Given the description of an element on the screen output the (x, y) to click on. 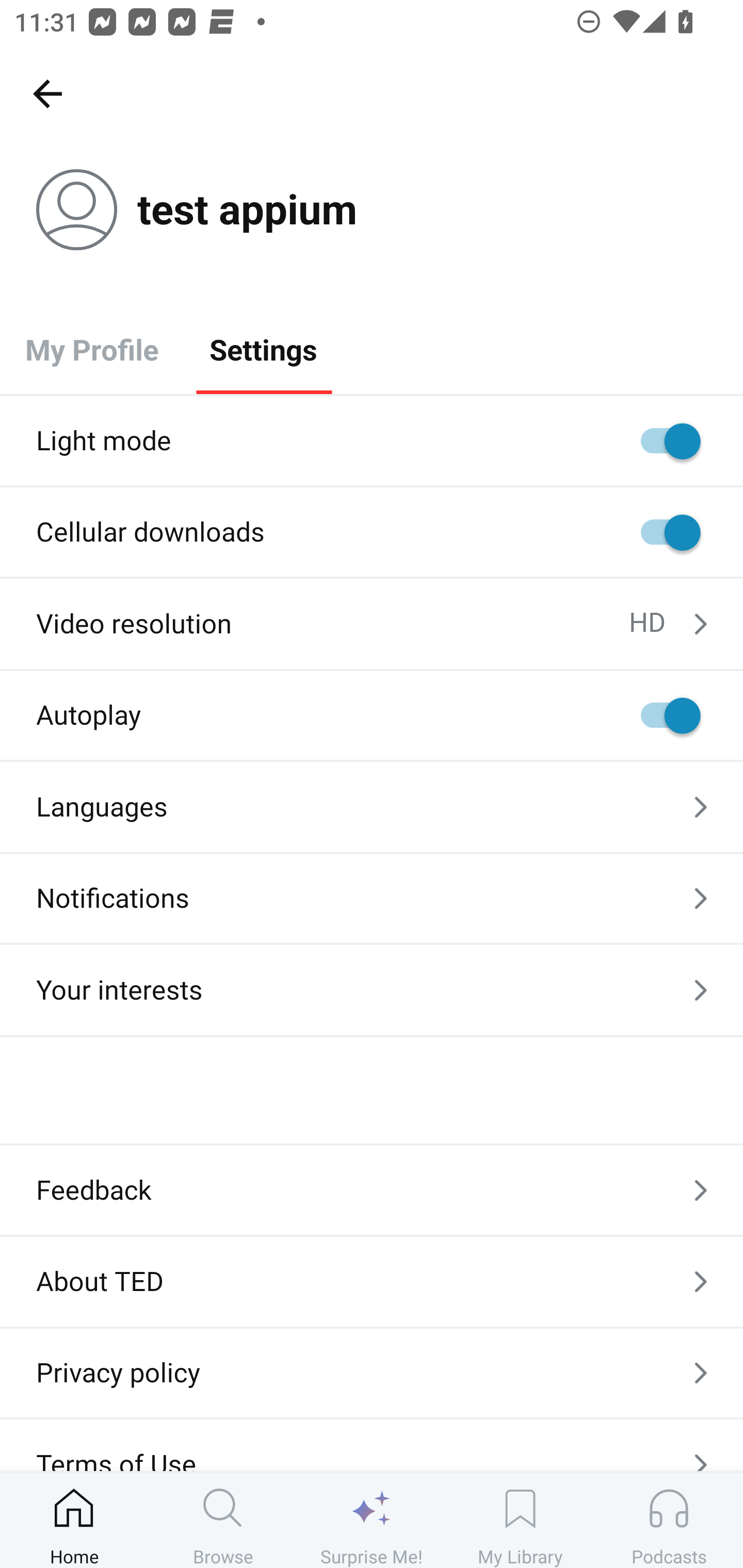
Home, back (47, 92)
My Profile (92, 348)
Settings (263, 348)
Video resolution HD (371, 623)
Languages (371, 806)
Notifications (371, 897)
Your interests (371, 989)
Feedback (371, 1190)
About TED (371, 1281)
Privacy policy (371, 1372)
Home (74, 1520)
Browse (222, 1520)
Surprise Me! (371, 1520)
My Library (519, 1520)
Podcasts (668, 1520)
